Given the description of an element on the screen output the (x, y) to click on. 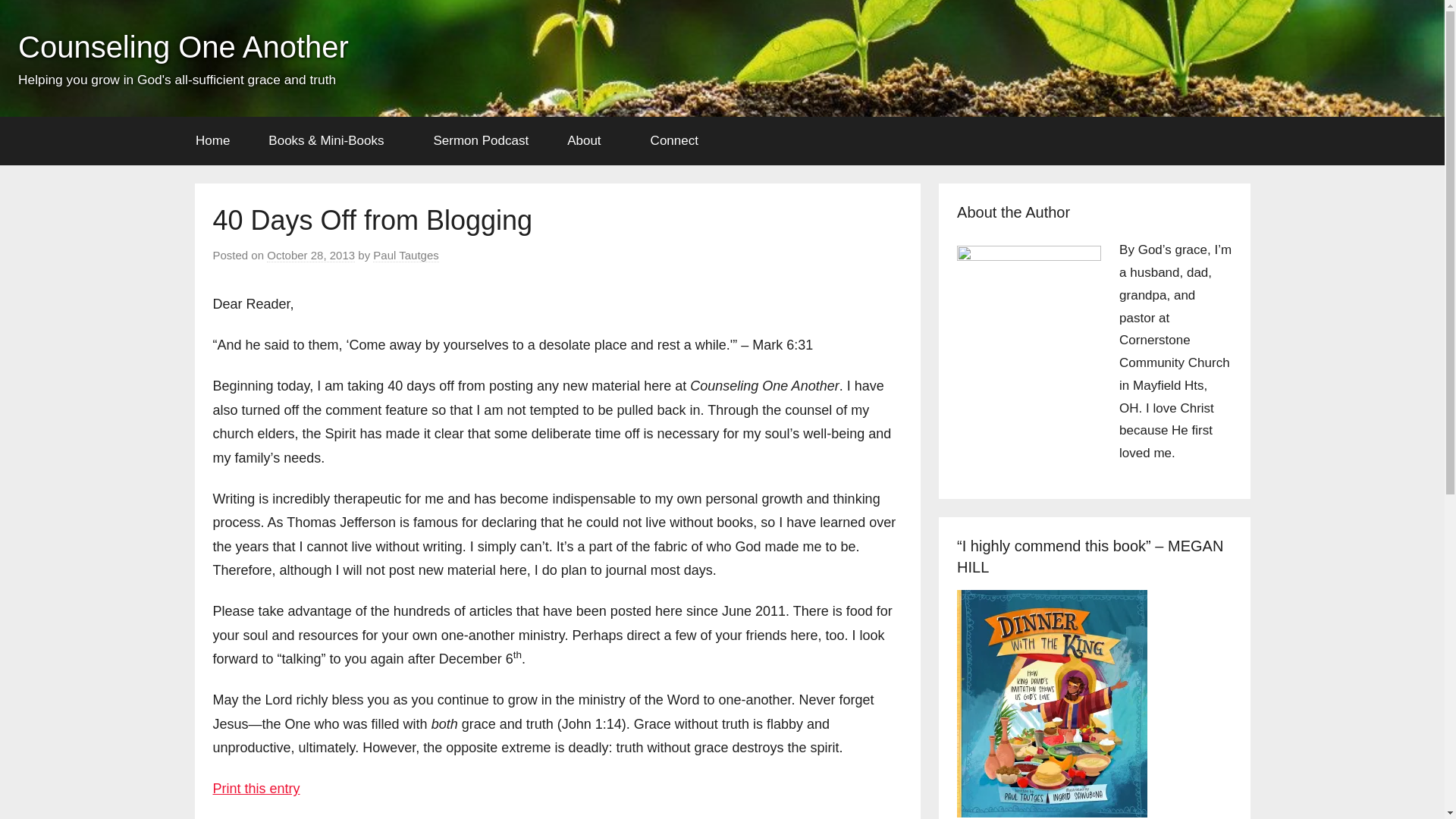
October 28, 2013 (310, 255)
Connect (679, 141)
About (589, 141)
View all posts by Paul Tautges (405, 255)
Sermon Podcast (480, 141)
Counseling One Another (183, 46)
Paul Tautges (405, 255)
Twitter (1404, 57)
Print this entry (255, 788)
Facebook (1324, 57)
